Given the description of an element on the screen output the (x, y) to click on. 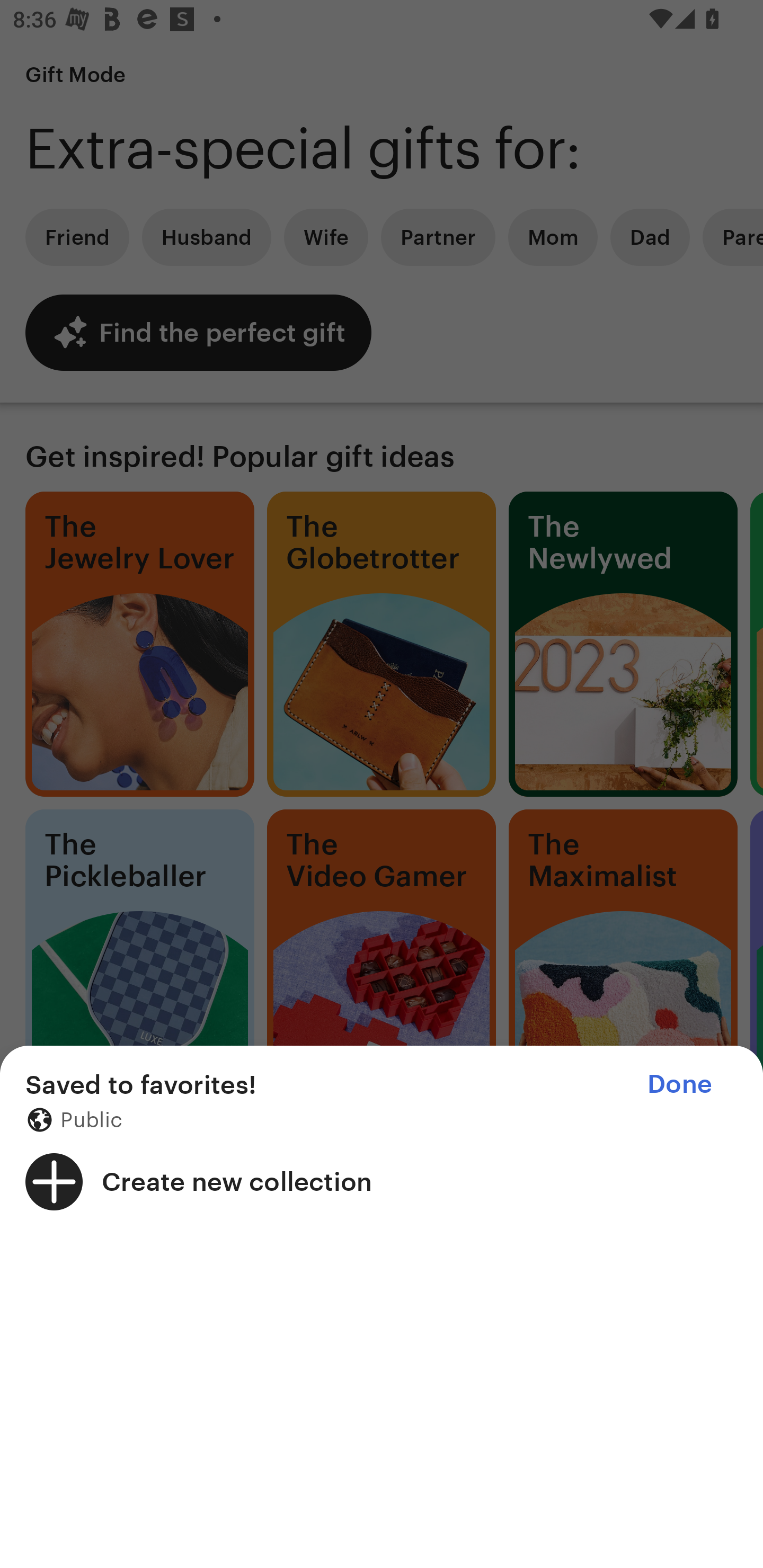
Done (679, 1083)
Create new collection (381, 1181)
